Given the description of an element on the screen output the (x, y) to click on. 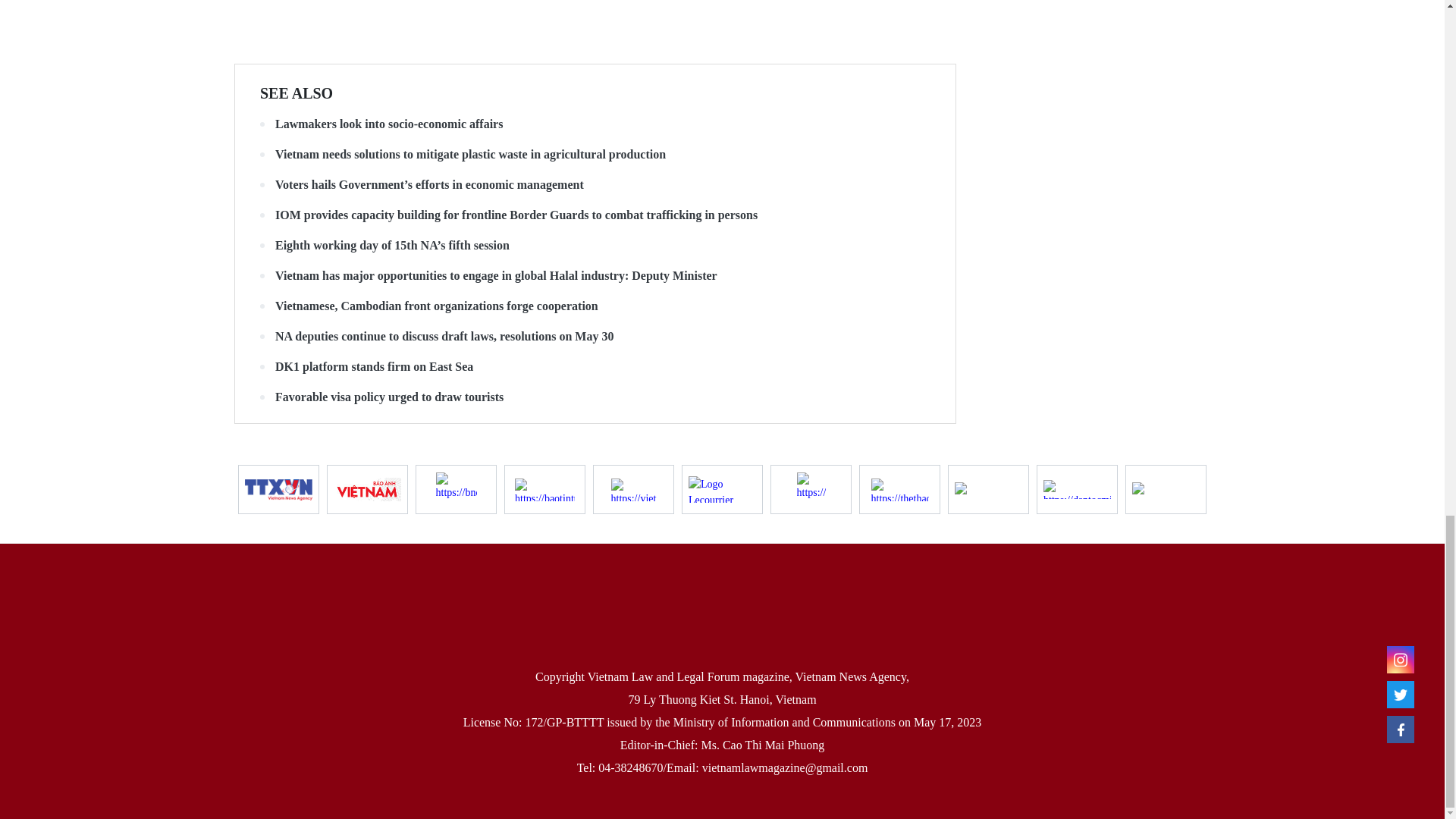
SEE ALSO (296, 93)
Vietnamese, Cambodian front organizations forge cooperation (595, 305)
Favorable visa policy urged to draw tourists (595, 396)
Lawmakers look into socio-economic affairs (595, 124)
DK1 platform stands firm on East Sea (595, 366)
